Given the description of an element on the screen output the (x, y) to click on. 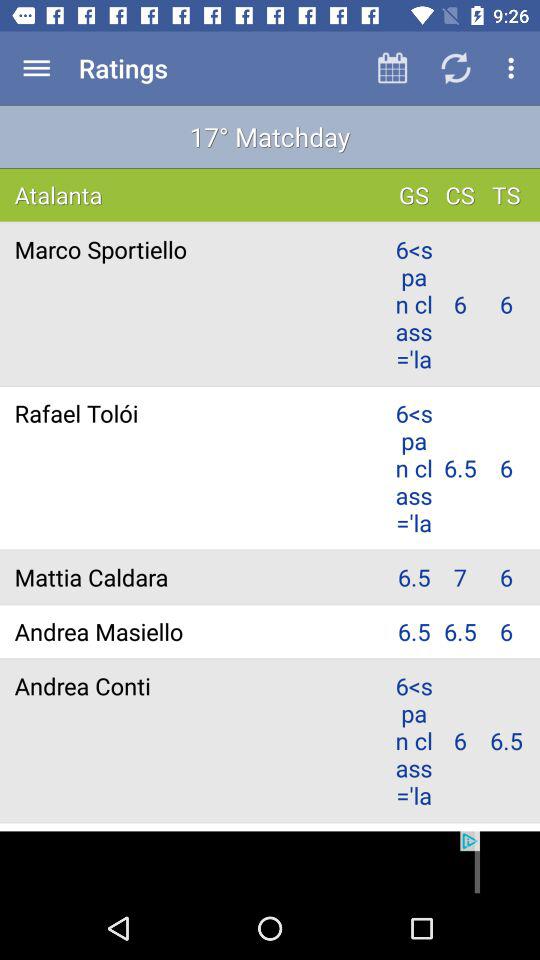
open the menu bar (36, 68)
